Given the description of an element on the screen output the (x, y) to click on. 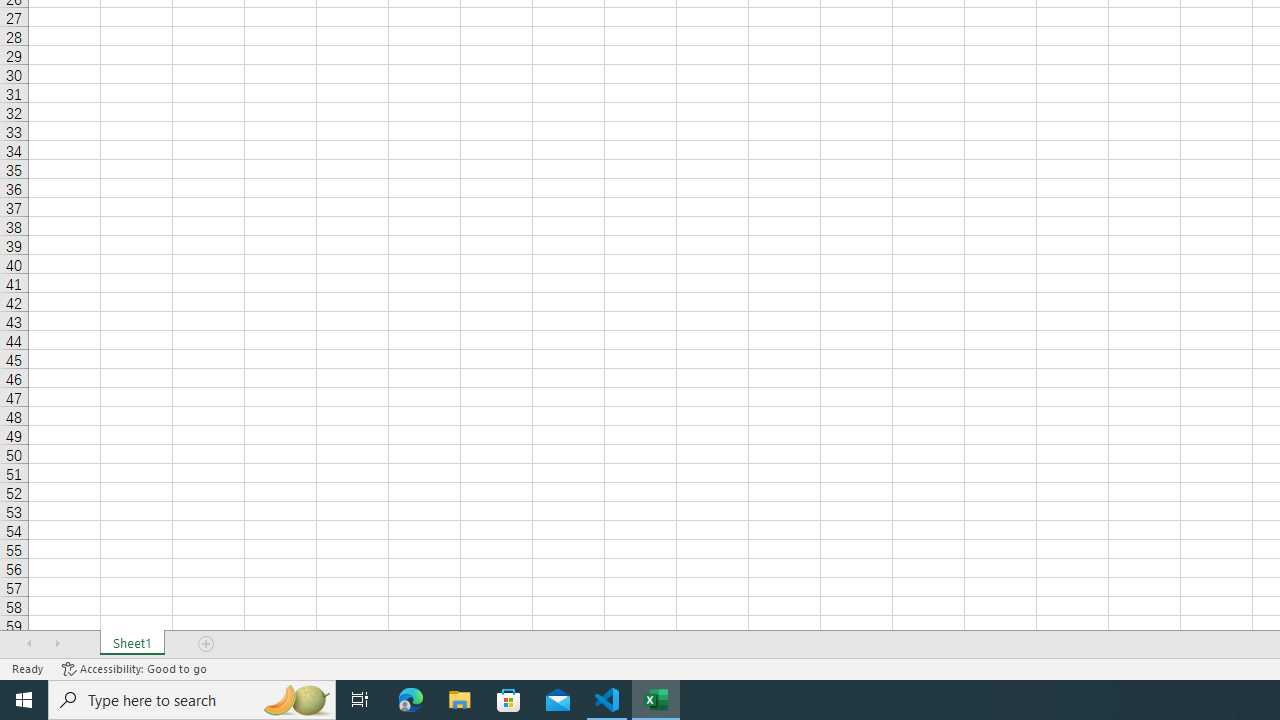
Excel - 1 running window (656, 699)
Microsoft Store (509, 699)
Microsoft Edge (411, 699)
File Explorer (460, 699)
Start (24, 699)
Type here to search (191, 699)
Search highlights icon opens search home window (295, 699)
Visual Studio Code - 1 running window (607, 699)
Task View (359, 699)
